Given the description of an element on the screen output the (x, y) to click on. 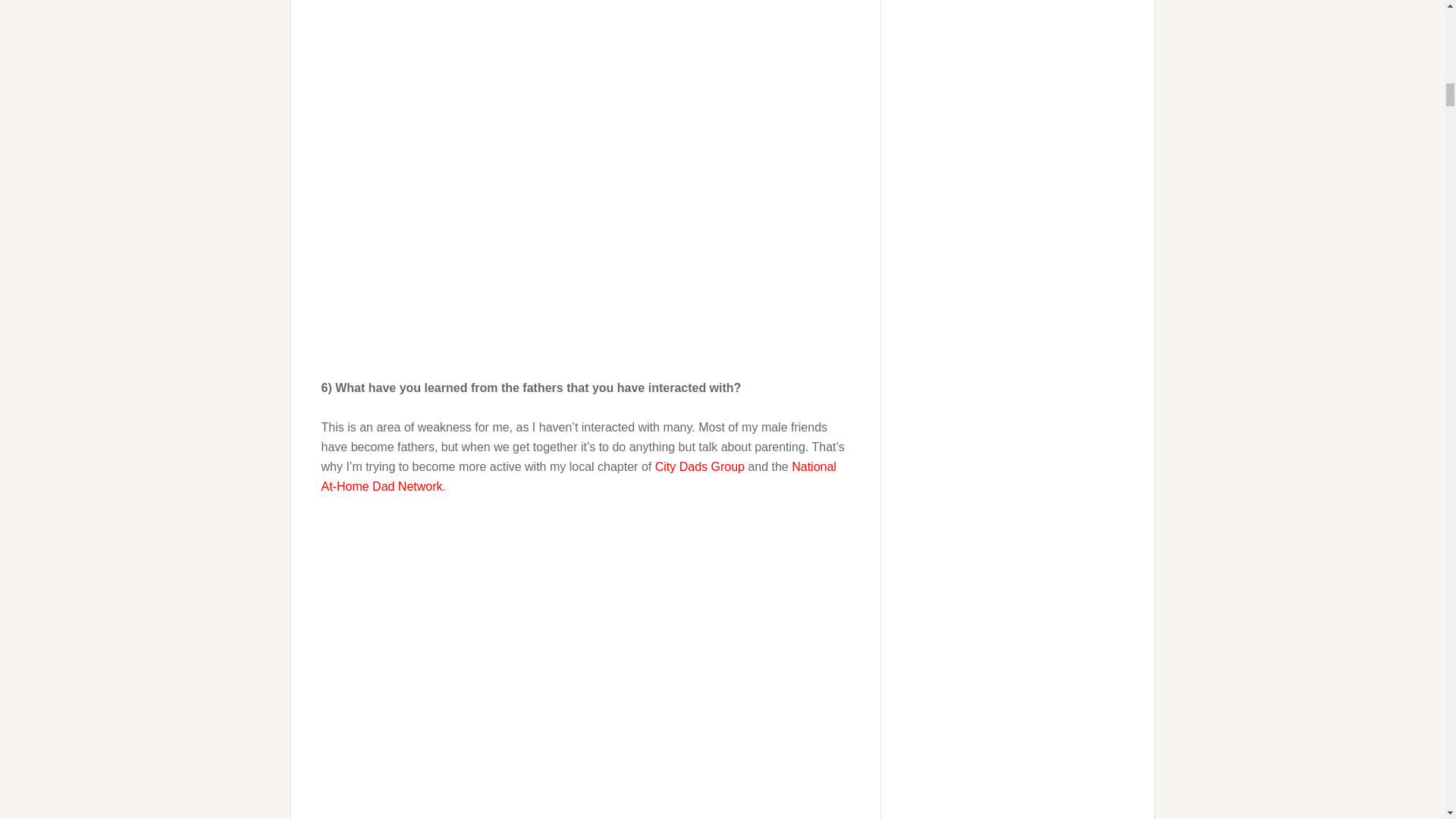
National At-Home Dad Network (578, 476)
City Dads Group (699, 466)
